Given the description of an element on the screen output the (x, y) to click on. 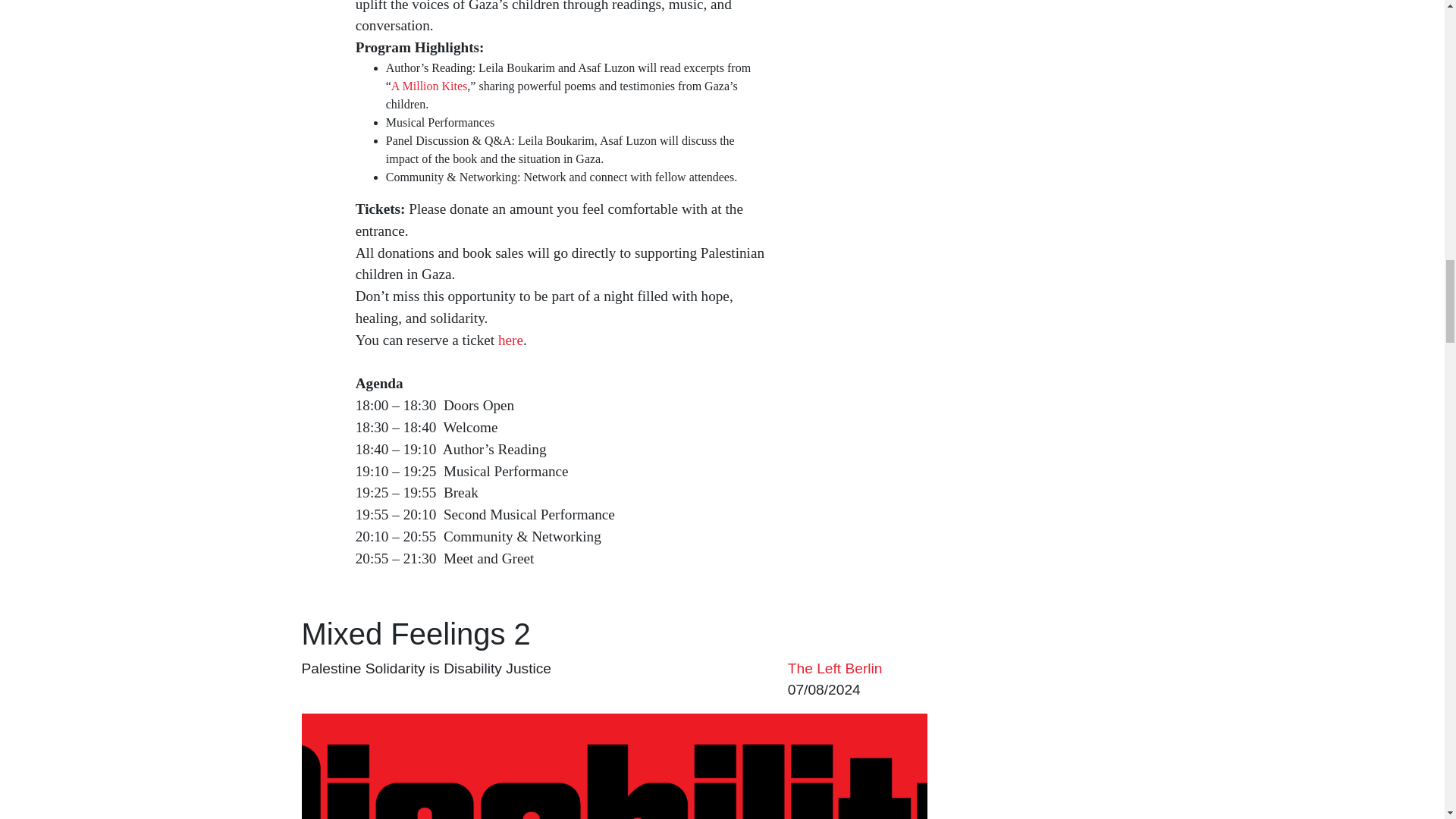
here (509, 340)
A Million Kites (429, 85)
The Left Berlin (834, 667)
